Given the description of an element on the screen output the (x, y) to click on. 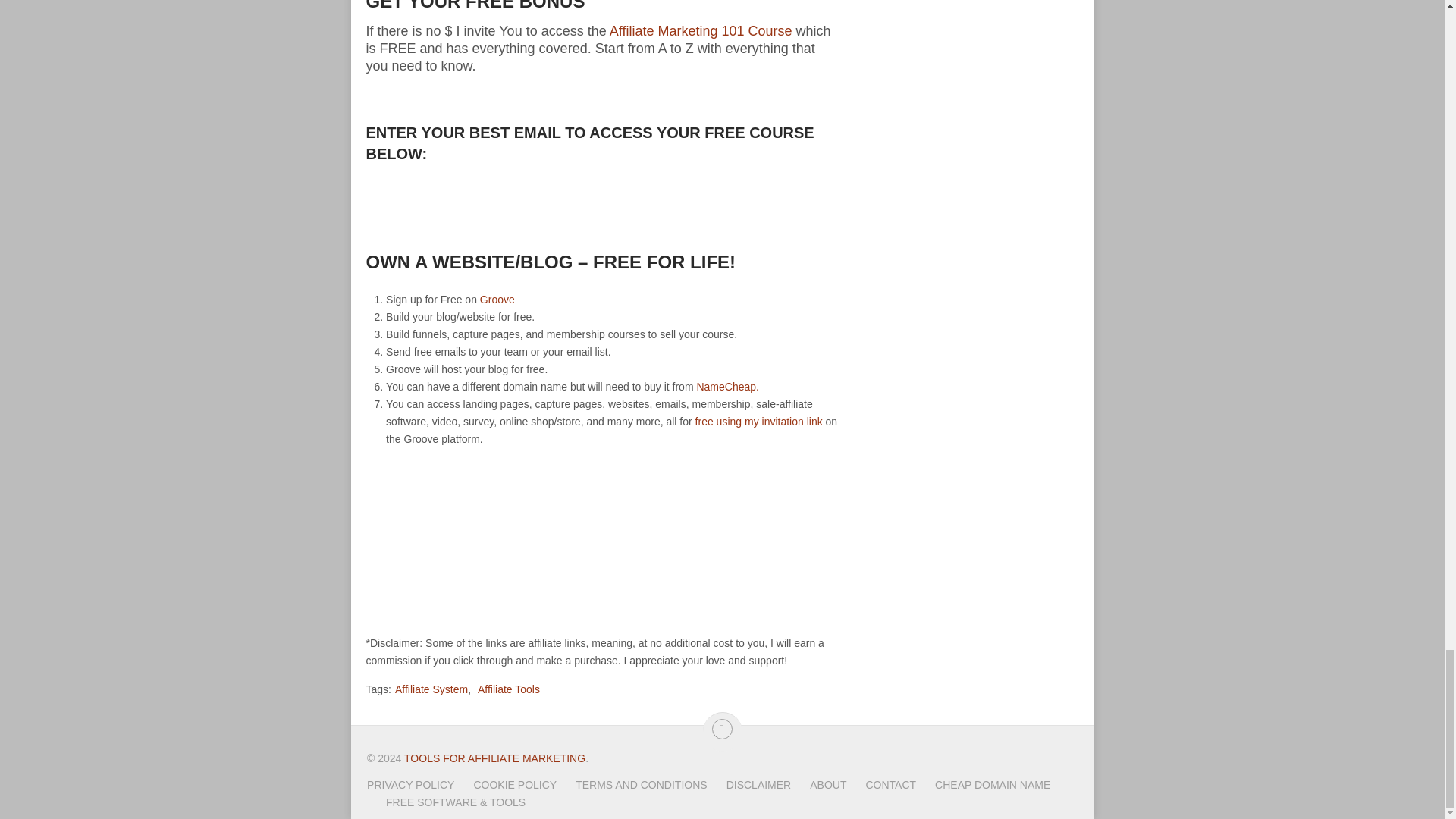
NameCheap. (726, 386)
Affiliate Marketing 101 Course (701, 30)
Groove (497, 299)
